Given the description of an element on the screen output the (x, y) to click on. 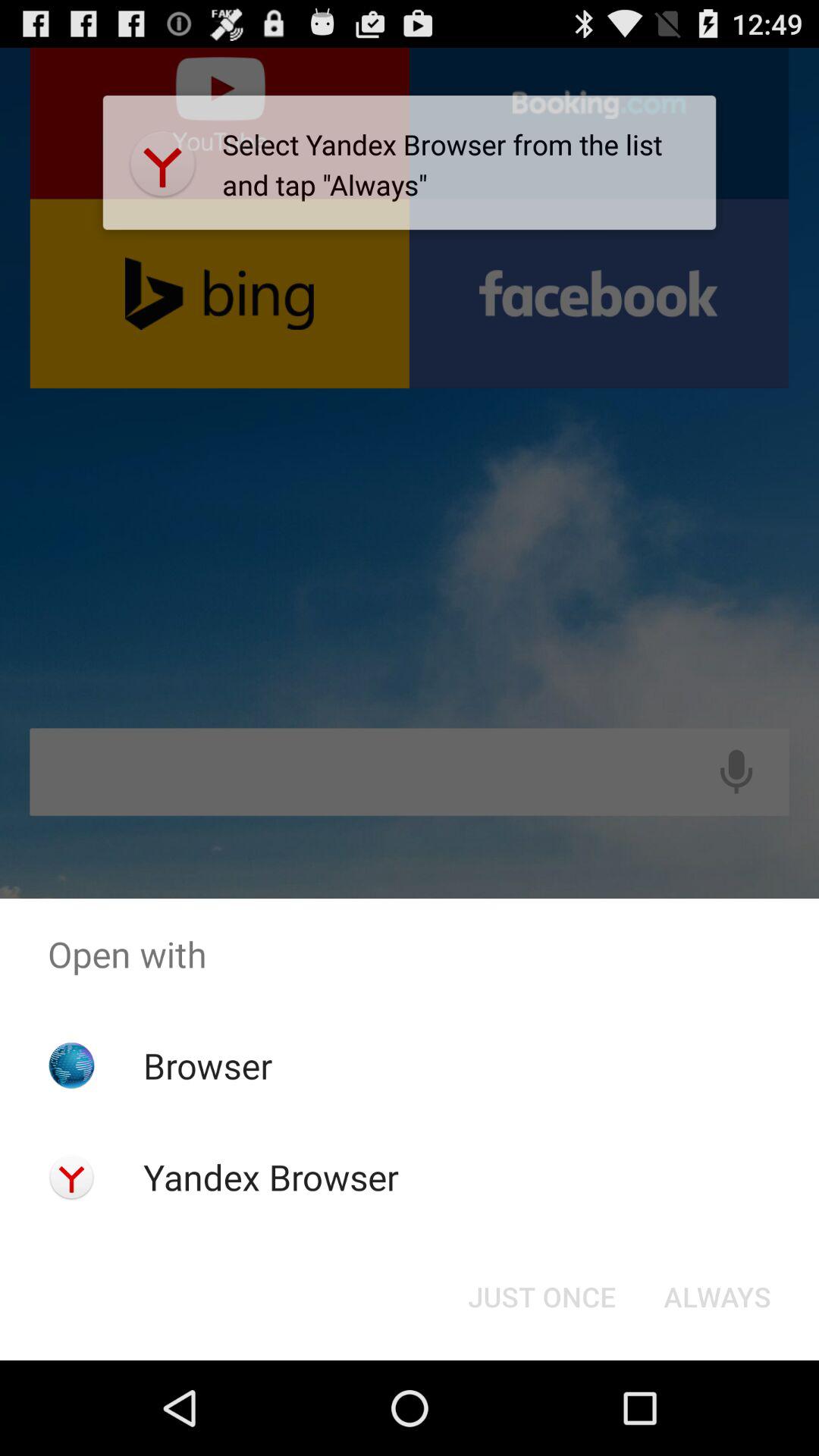
open the just once (541, 1296)
